Given the description of an element on the screen output the (x, y) to click on. 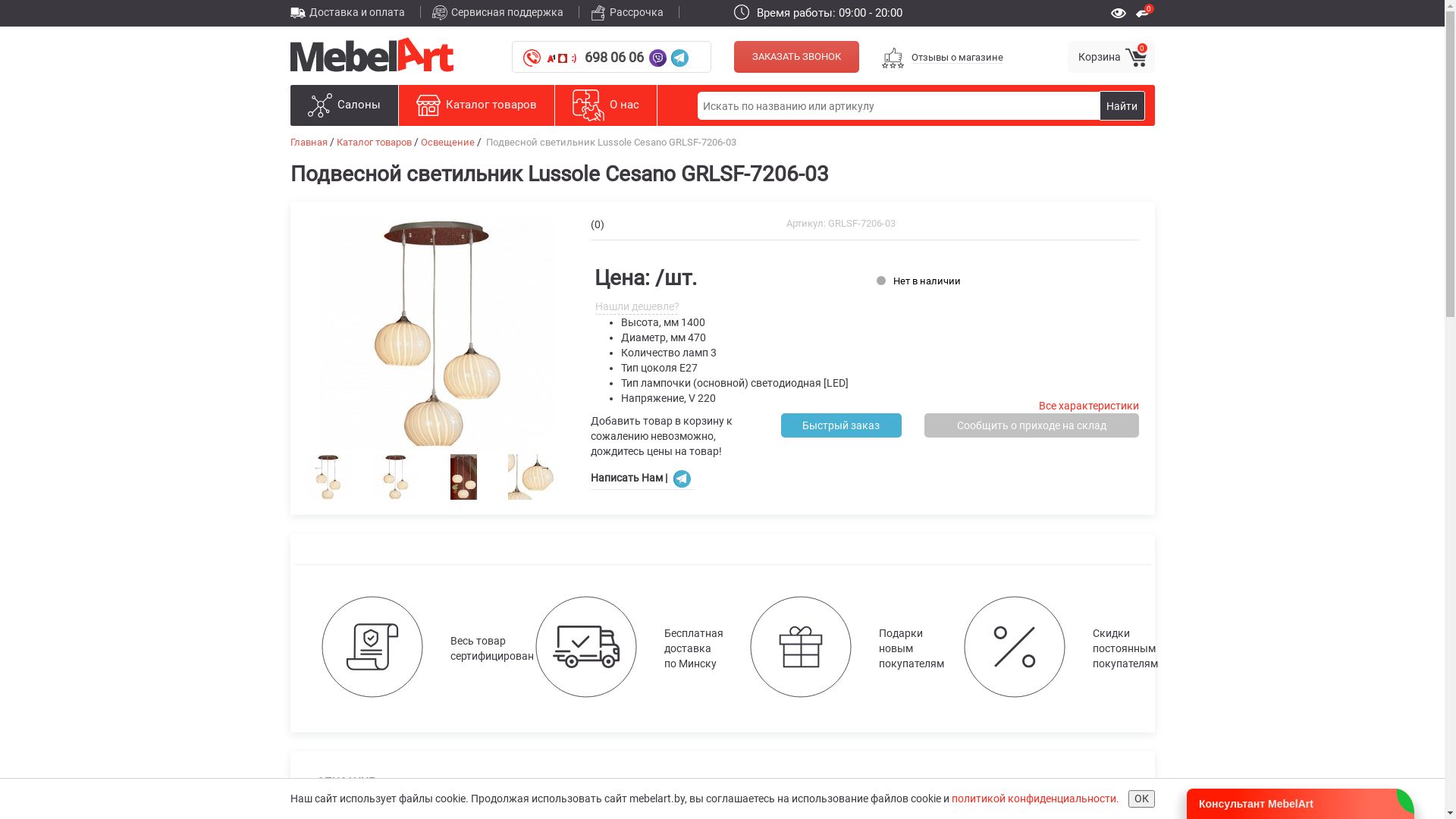
698 06 06 Element type: text (613, 57)
0 Element type: text (1144, 12)
